Given the description of an element on the screen output the (x, y) to click on. 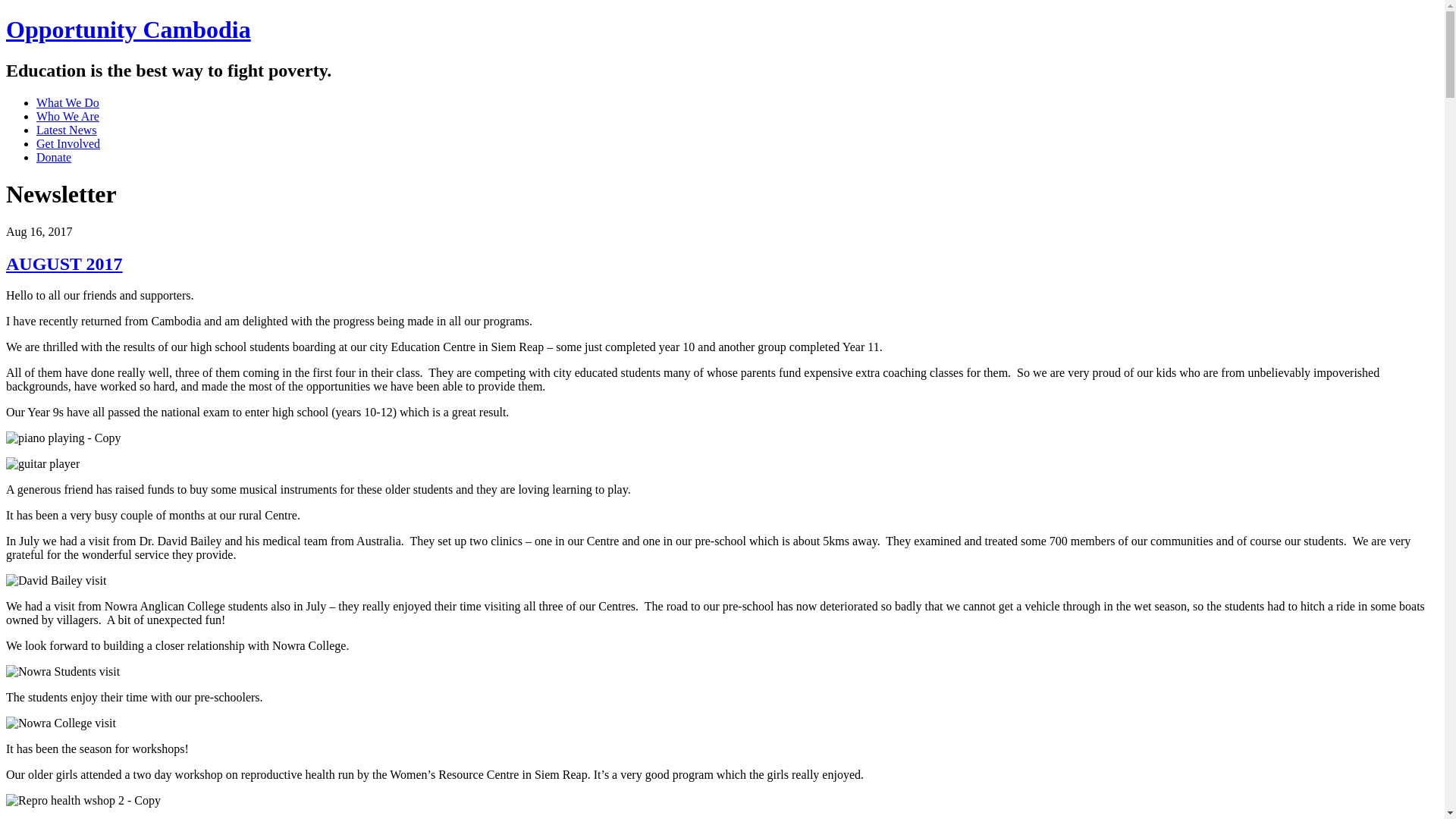
Latest News Element type: text (66, 129)
Get Involved Element type: text (68, 143)
Who We Are Element type: text (67, 115)
What We Do Element type: text (67, 102)
AUGUST 2017 Element type: text (64, 263)
Opportunity Cambodia Element type: text (128, 29)
Donate Element type: text (53, 156)
